Given the description of an element on the screen output the (x, y) to click on. 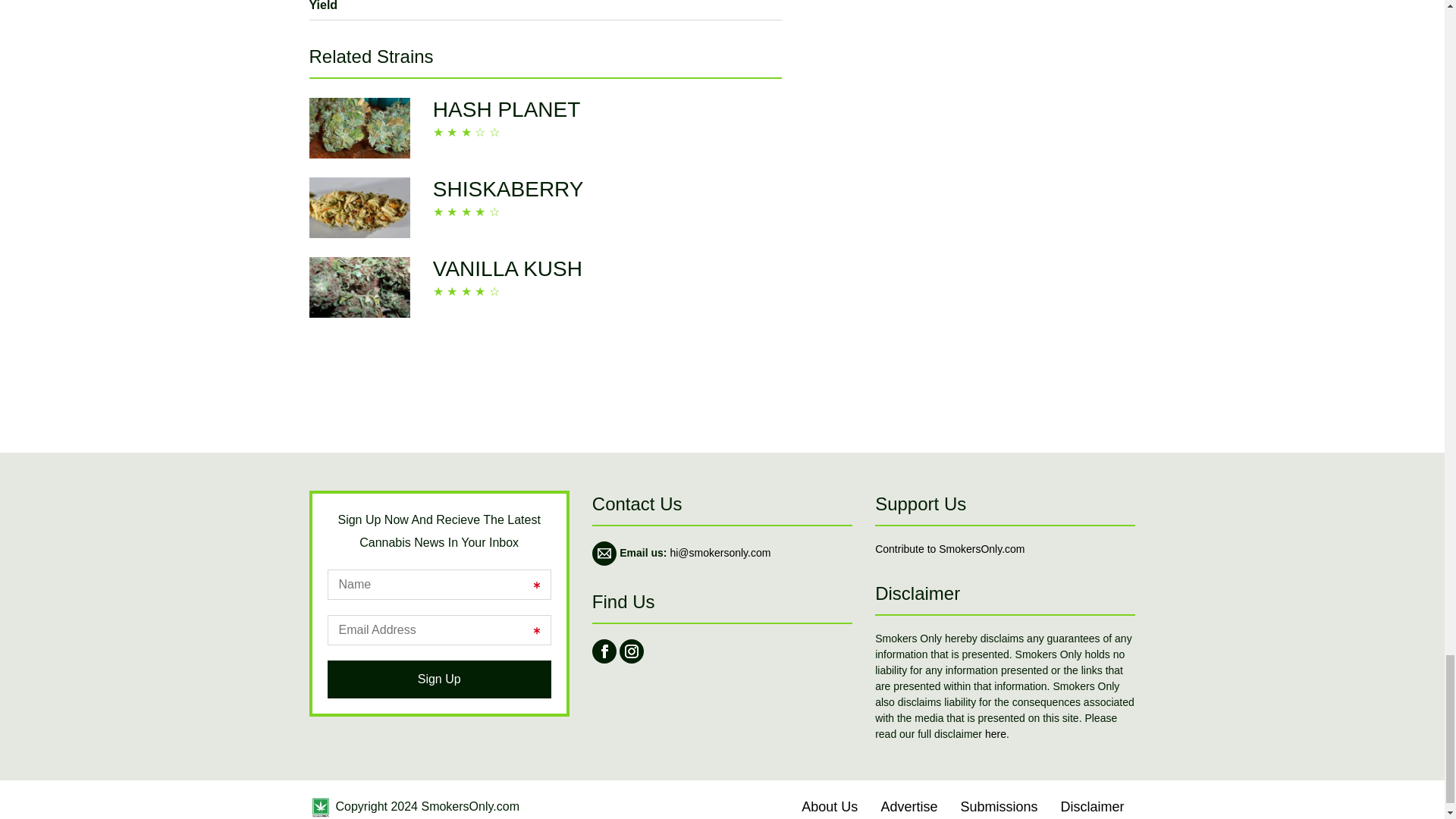
Sign Up (439, 679)
Advertise (909, 806)
here (995, 734)
About Us (829, 806)
Contribute to SmokersOnly.com (950, 548)
